Given the description of an element on the screen output the (x, y) to click on. 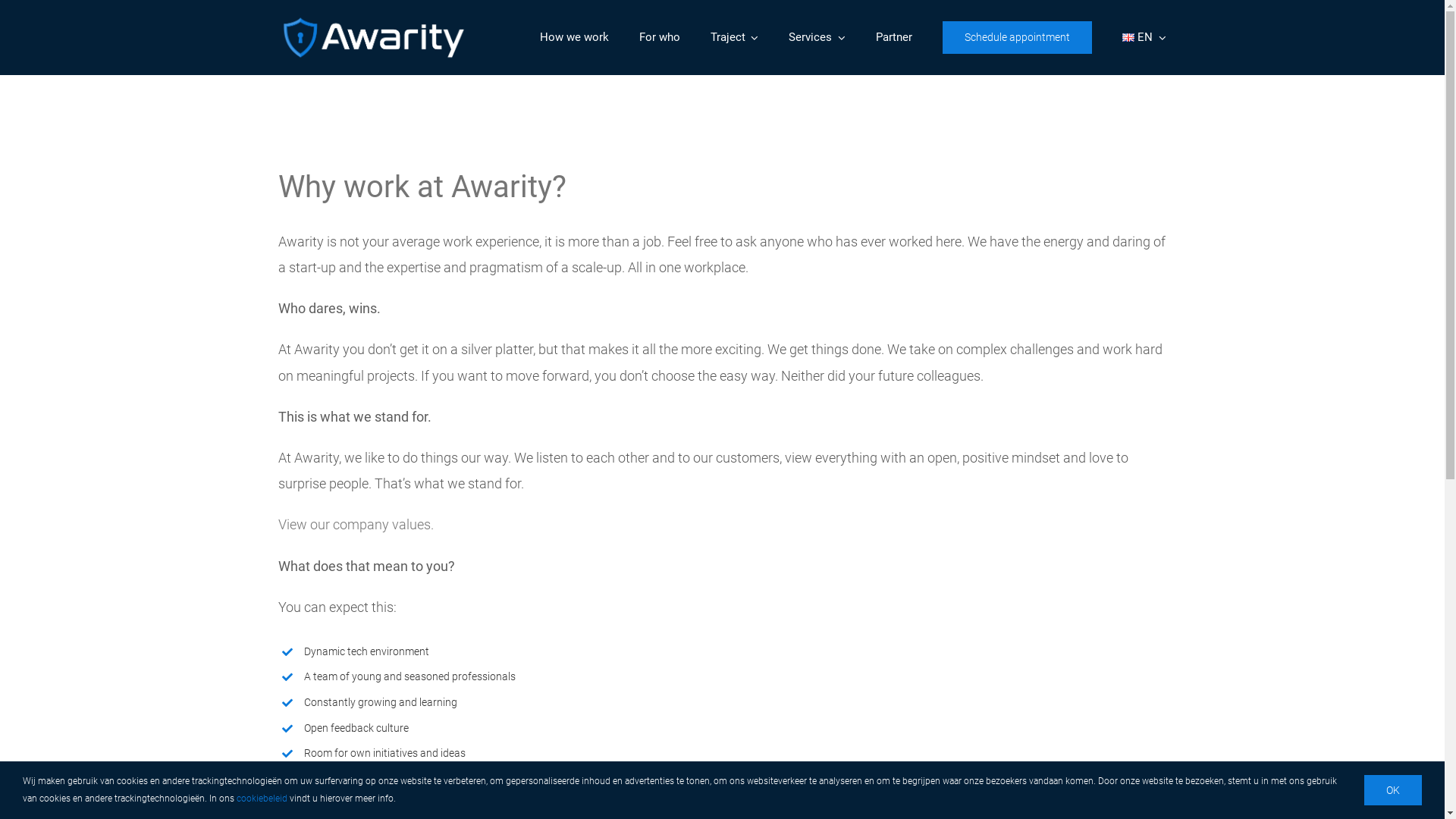
View our company values. Element type: text (355, 524)
How we work Element type: text (573, 37)
Services Element type: text (816, 37)
For who Element type: text (658, 37)
EN Element type: text (1144, 37)
OK Element type: text (1392, 790)
Partner Element type: text (893, 37)
cookiebeleid Element type: text (261, 798)
Traject Element type: text (733, 37)
Schedule appointment Element type: text (1016, 37)
